Given the description of an element on the screen output the (x, y) to click on. 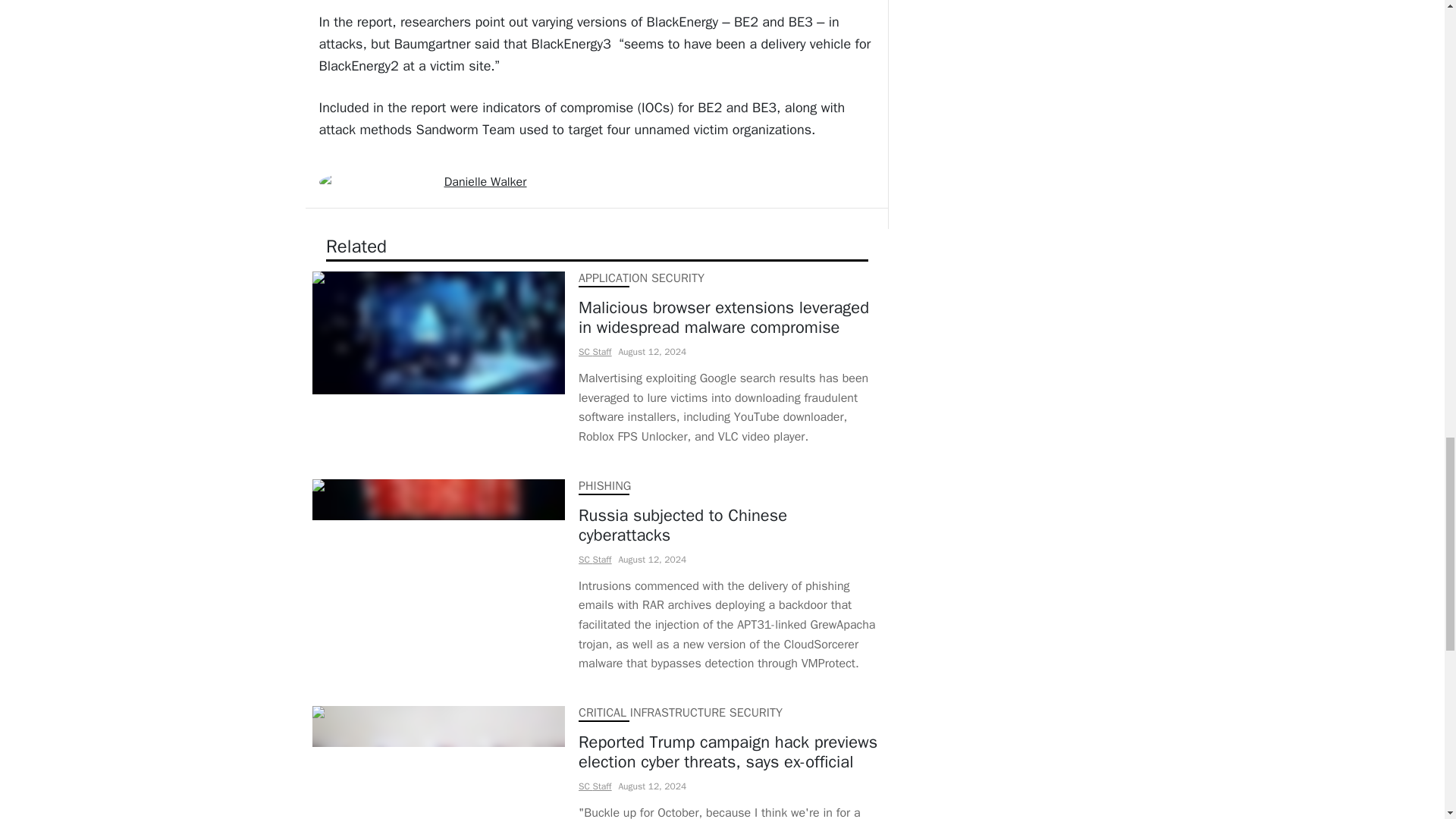
PHISHING (604, 485)
SC Staff (594, 351)
SC Staff (594, 558)
SC Staff (594, 786)
APPLICATION SECURITY (640, 278)
Danielle Walker (485, 181)
Russia subjected to Chinese cyberattacks (729, 526)
CRITICAL INFRASTRUCTURE SECURITY (679, 712)
